Given the description of an element on the screen output the (x, y) to click on. 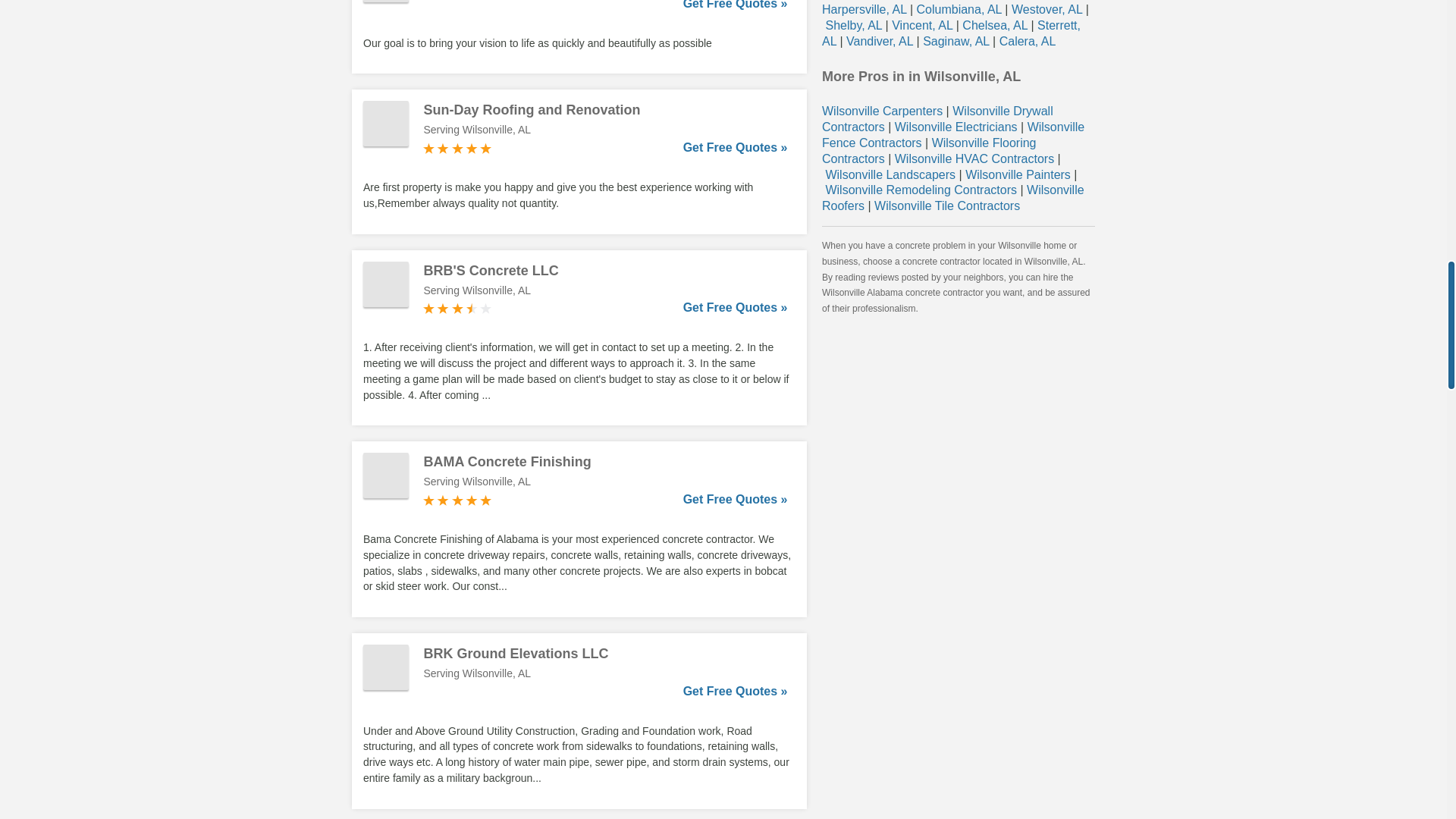
3.5 star rating (457, 308)
5 star rating (457, 499)
5 star rating (457, 148)
